Given the description of an element on the screen output the (x, y) to click on. 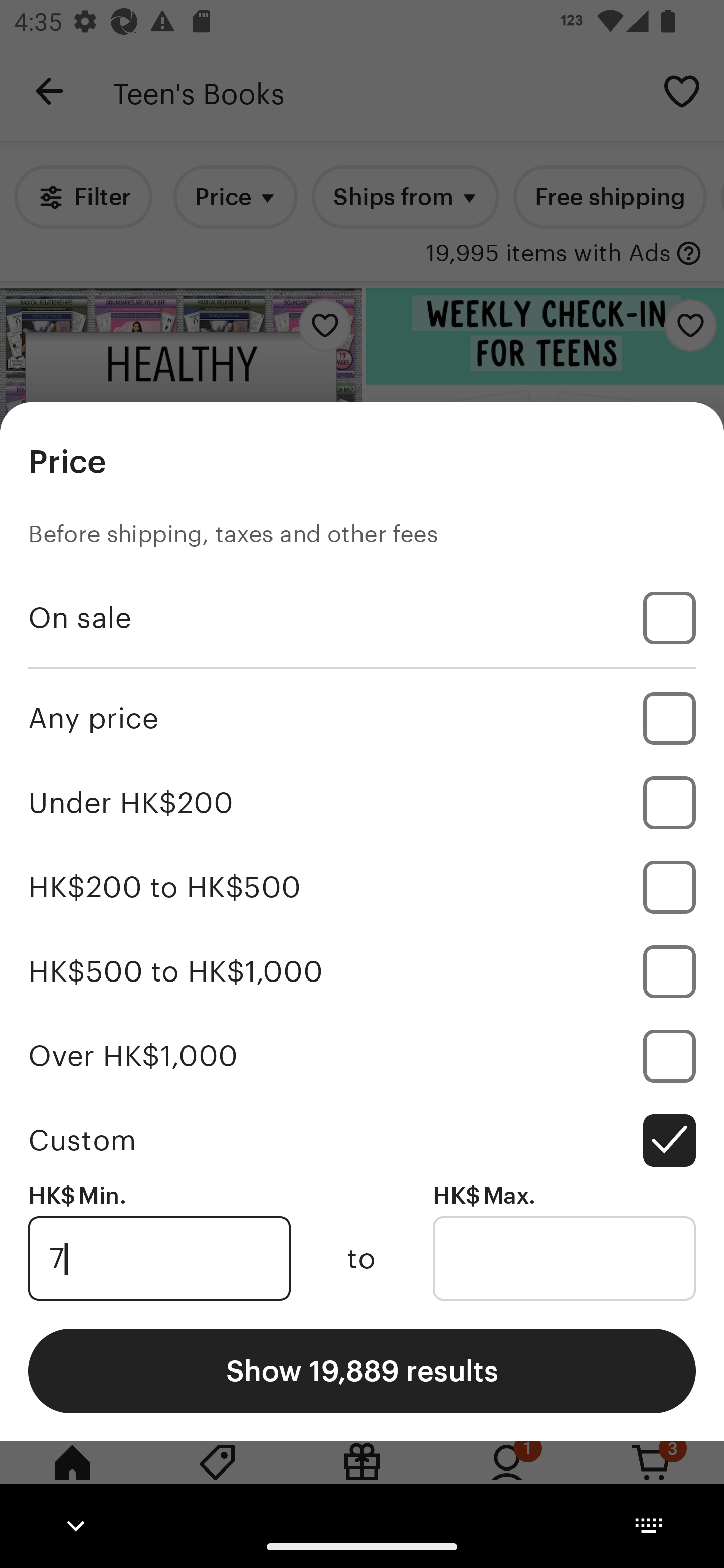
On sale (362, 617)
Any price (362, 717)
Under HK$200 (362, 802)
HK$200 to HK$500 (362, 887)
HK$500 to HK$1,000 (362, 970)
Over HK$1,000 (362, 1054)
Custom (362, 1139)
7 (159, 1257)
Show 19,889 results (361, 1370)
